Given the description of an element on the screen output the (x, y) to click on. 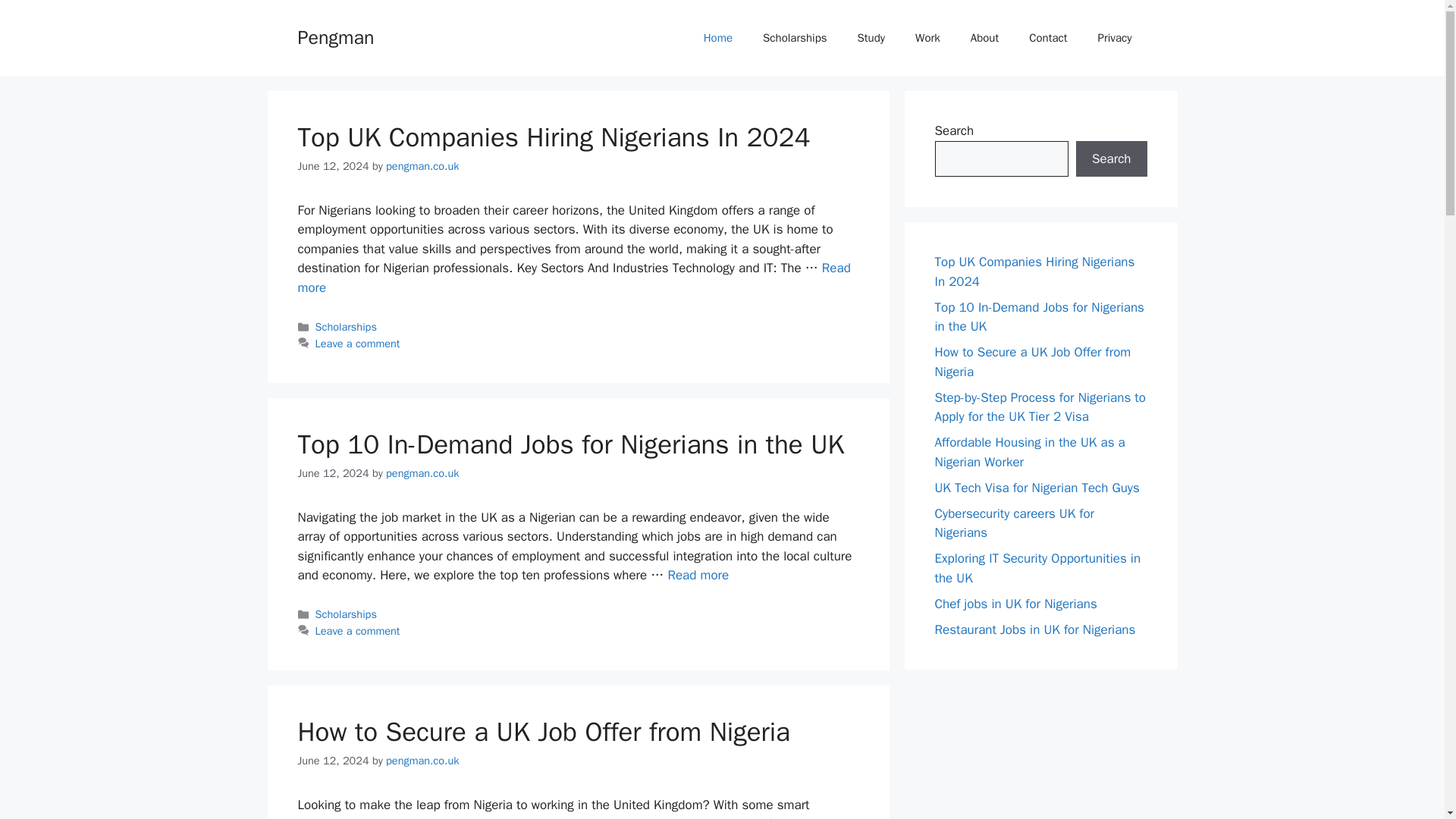
pengman.co.uk (421, 472)
Read more (697, 575)
Leave a comment (357, 343)
Top 10 In-Demand Jobs for Nigerians in the UK (697, 575)
Scholarships (346, 326)
Leave a comment (357, 631)
Top UK Companies Hiring Nigerians In 2024 (553, 136)
Pengman (335, 37)
How to Secure a UK Job Offer from Nigeria (543, 731)
pengman.co.uk (421, 760)
View all posts by pengman.co.uk (421, 165)
Study (872, 37)
pengman.co.uk (421, 165)
Contact (1047, 37)
Scholarships (346, 613)
